Given the description of an element on the screen output the (x, y) to click on. 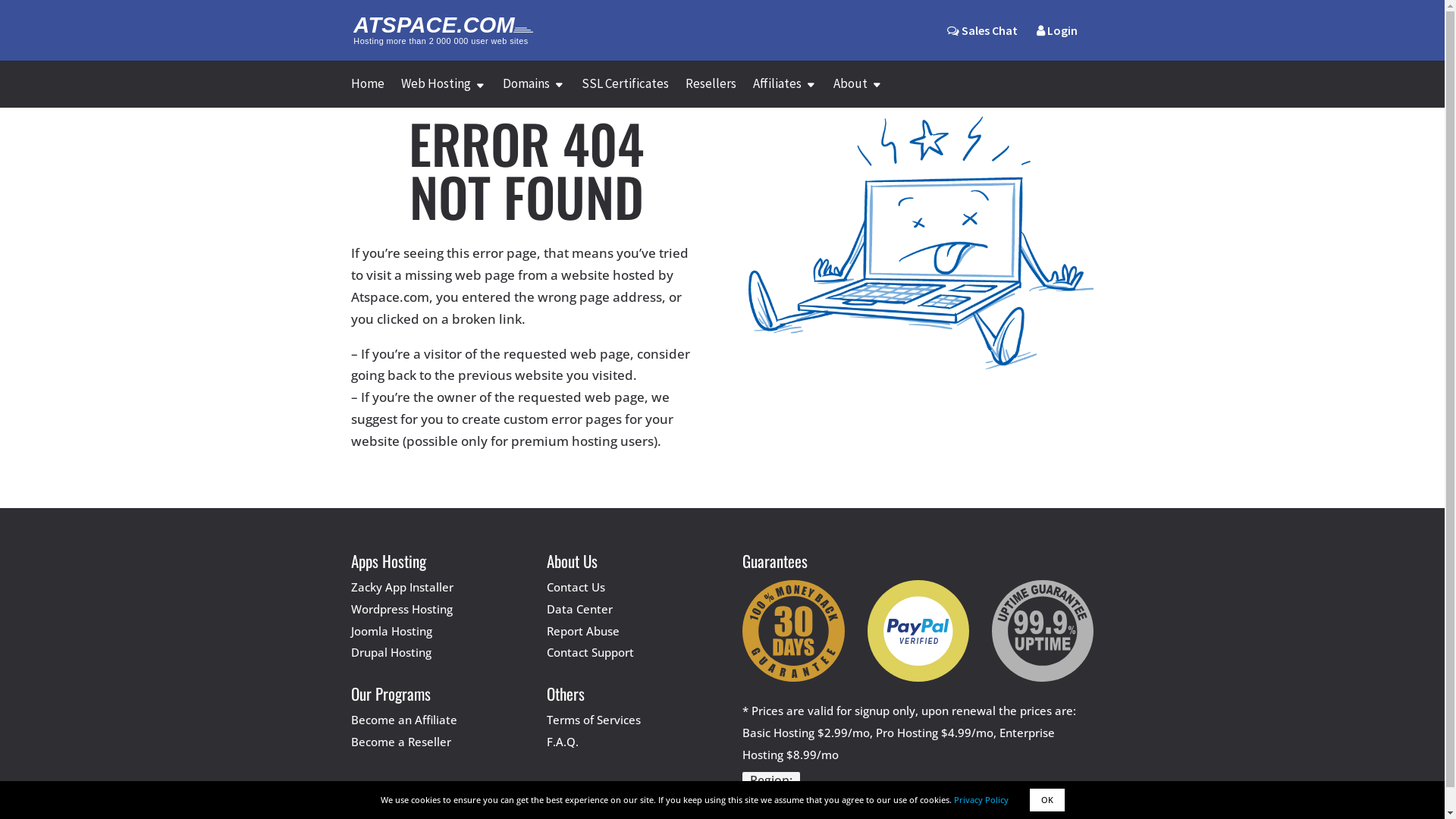
Login Element type: text (1055, 42)
Privacy Policy Element type: text (980, 799)
Terms of Services Element type: text (593, 719)
Affiliates Element type: text (783, 92)
Resellers Element type: text (710, 92)
F.A.Q. Element type: text (562, 741)
Domains Element type: text (533, 92)
Become an Affiliate Element type: text (403, 719)
About Element type: text (856, 92)
Report Abuse Element type: text (582, 630)
Become a Reseller Element type: text (400, 741)
SSL Certificates Element type: text (624, 92)
Web Hosting Element type: text (442, 92)
Home Element type: text (366, 92)
OK Element type: text (1046, 799)
Zacky App Installer Element type: text (401, 586)
Drupal Hosting Element type: text (390, 651)
Joomla Hosting Element type: text (390, 630)
Data Center Element type: text (579, 608)
Sales Chat Element type: text (981, 42)
Sales Chat Element type: text (981, 29)
Wordpress Hosting Element type: text (400, 608)
Contact Us Element type: text (575, 586)
Contact Support Element type: text (589, 651)
